Given the description of an element on the screen output the (x, y) to click on. 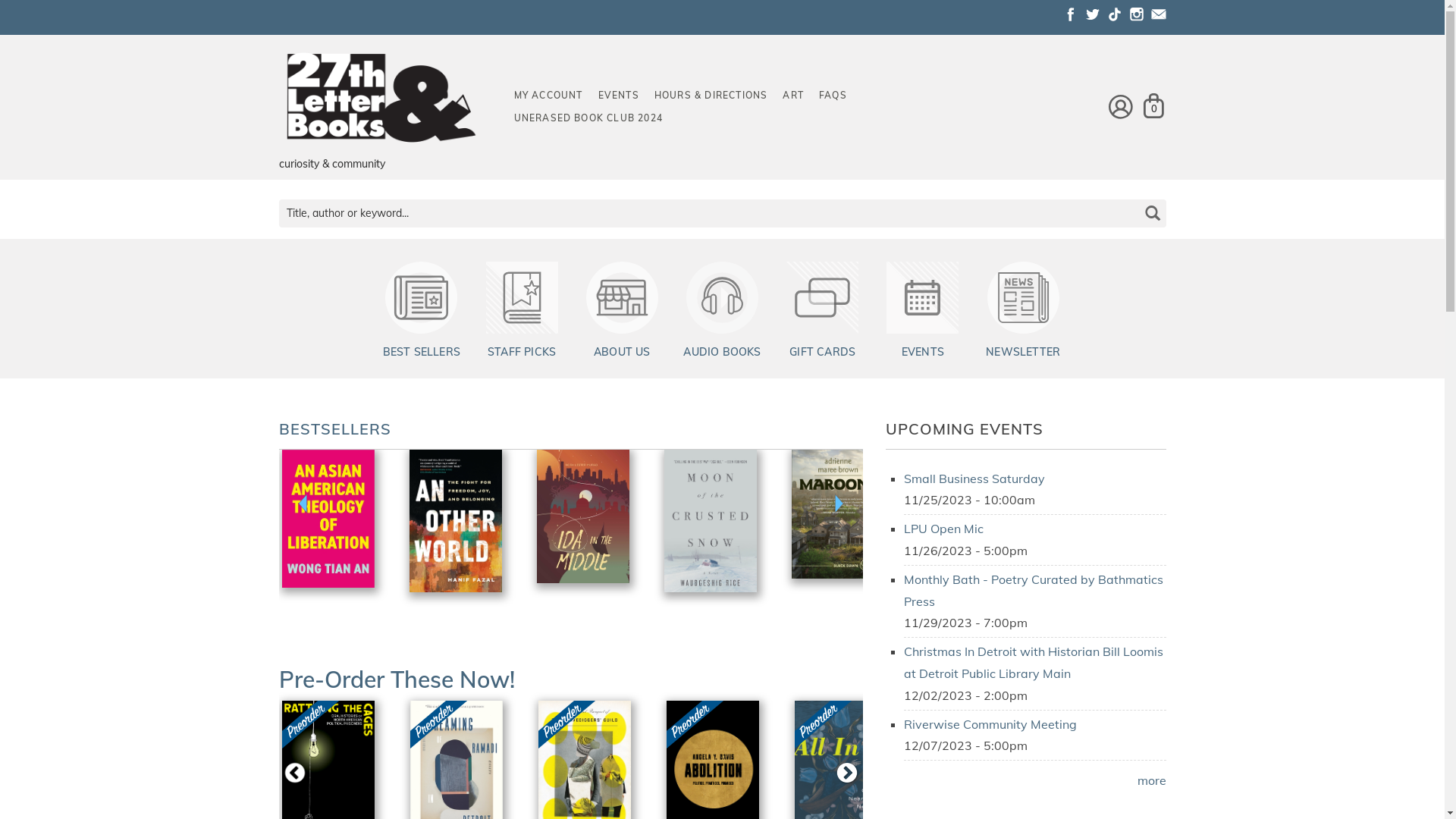
ART Element type: text (793, 95)
HOURS & DIRECTIONS Element type: text (710, 95)
Best Sellers Icon Element type: hover (421, 297)
Cart Element type: text (1154, 105)
Gift Cards Icon Element type: hover (822, 297)
EVENTS Element type: text (922, 351)
AUDIO BOOKS Element type: text (721, 351)
search Element type: text (1150, 201)
STAFF PICKS Element type: text (521, 351)
Home Element type: hover (381, 98)
FAQS Element type: text (832, 95)
Pre-Order These Now! Element type: text (396, 679)
EVENTS Element type: text (617, 95)
MY ACCOUNT Element type: text (548, 95)
BEST SELLERS Element type: text (421, 351)
Staff Picks Icons Element type: hover (521, 297)
Monthly Bath - Poetry Curated by Bathmatics Press Element type: text (1033, 589)
Audio Books Element type: hover (722, 297)
NEWSLETTER Element type: text (1022, 351)
About Us Icon Element type: hover (621, 297)
Small Business Saturday Element type: text (973, 478)
Skip to main content Element type: text (57, 0)
GIFT CARDS Element type: text (822, 351)
ABOUT US Element type: text (621, 351)
My Account Element type: text (1120, 105)
Riverwise Community Meeting Element type: text (989, 723)
Newsletter Signup Icon Element type: hover (1022, 297)
UNERASED BOOK CLUB 2024 Element type: text (588, 117)
BESTSELLERS Element type: text (335, 428)
LPU Open Mic Element type: text (943, 528)
more Element type: text (1151, 779)
Events Icon Element type: hover (922, 297)
